Given the description of an element on the screen output the (x, y) to click on. 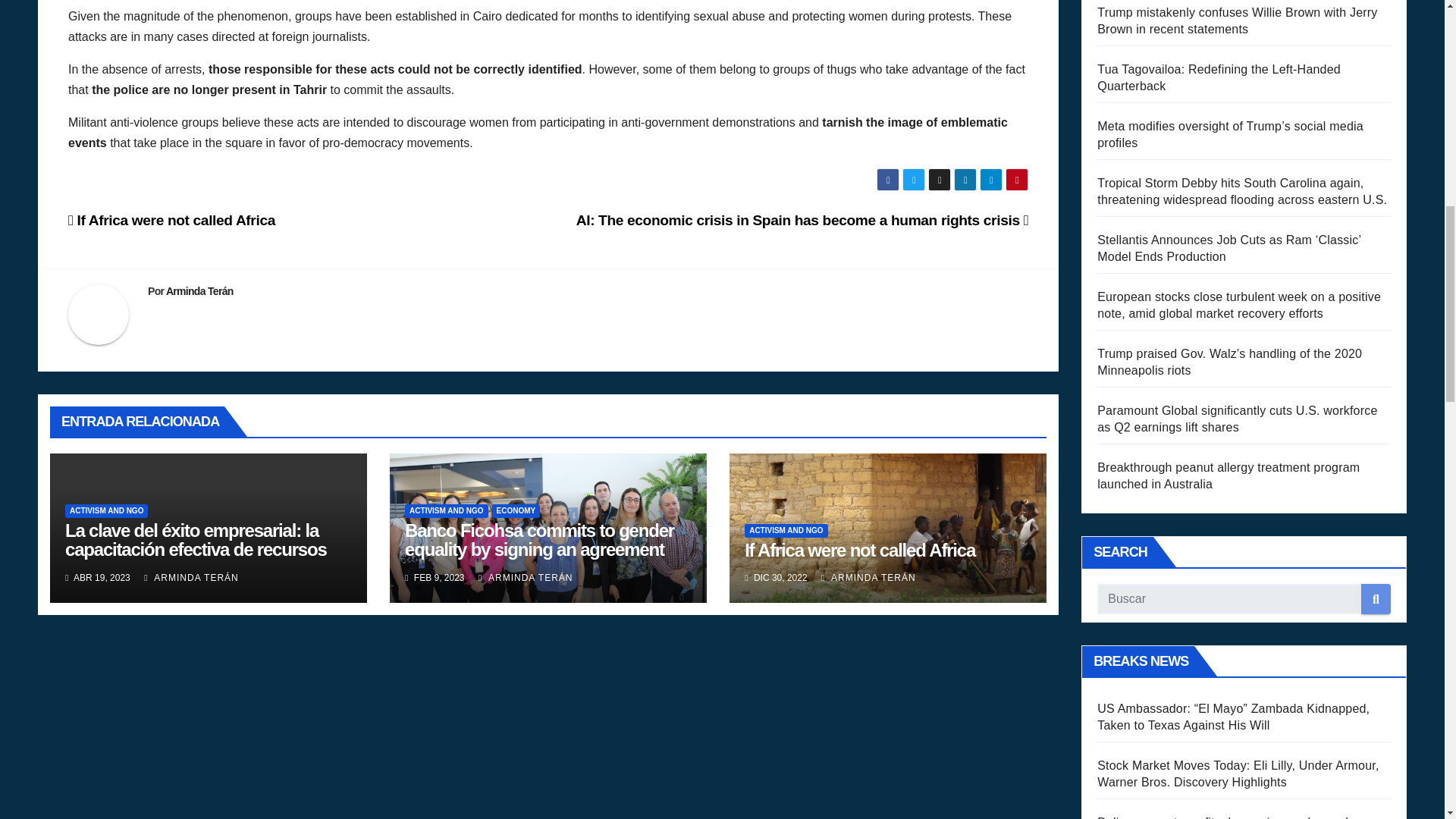
ACTIVISM AND NGO (106, 510)
ACTIVISM AND NGO (785, 530)
If Africa were not called Africa (171, 220)
ECONOMY (516, 510)
Permalink to: If Africa were not called Africa (859, 549)
ACTIVISM AND NGO (445, 510)
